Given the description of an element on the screen output the (x, y) to click on. 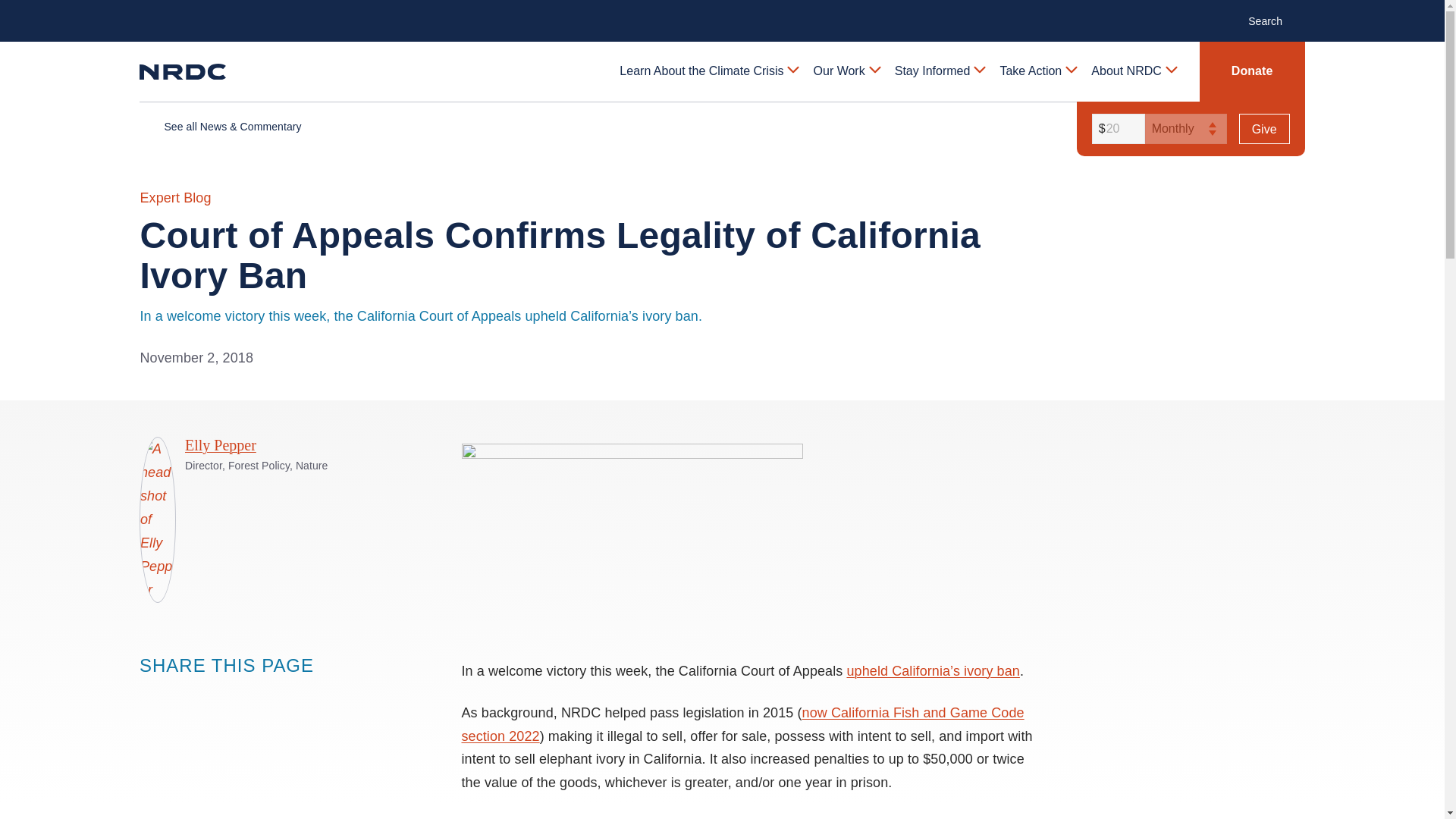
Our Work (846, 71)
20 (1116, 128)
Share this page block (149, 694)
Search (1272, 19)
Learn About the Climate Crisis (707, 71)
Stay Informed (939, 71)
Share this page block (210, 694)
Share this page block (180, 694)
Skip to main content (721, 12)
